Given the description of an element on the screen output the (x, y) to click on. 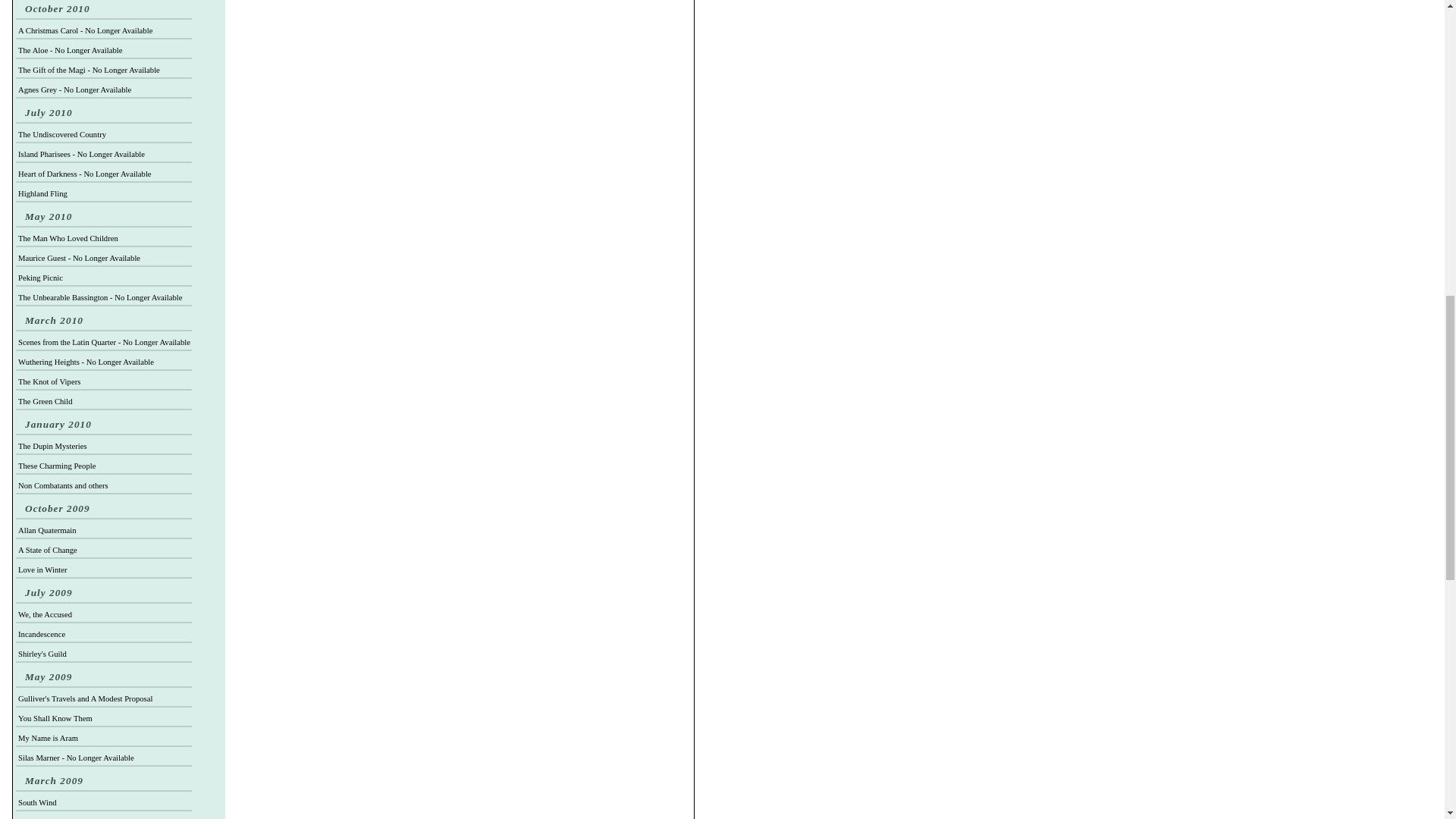
Heart of Darkness - No Longer Available (84, 173)
The Gift of the Magi - No Longer Available (88, 70)
Agnes Grey - No Longer Available (74, 89)
A Christmas Carol - No Longer Available (84, 30)
The Undiscovered Country (61, 134)
Highland Fling (41, 193)
The Aloe - No Longer Available (69, 49)
Island Pharisees - No Longer Available (80, 153)
